Given the description of an element on the screen output the (x, y) to click on. 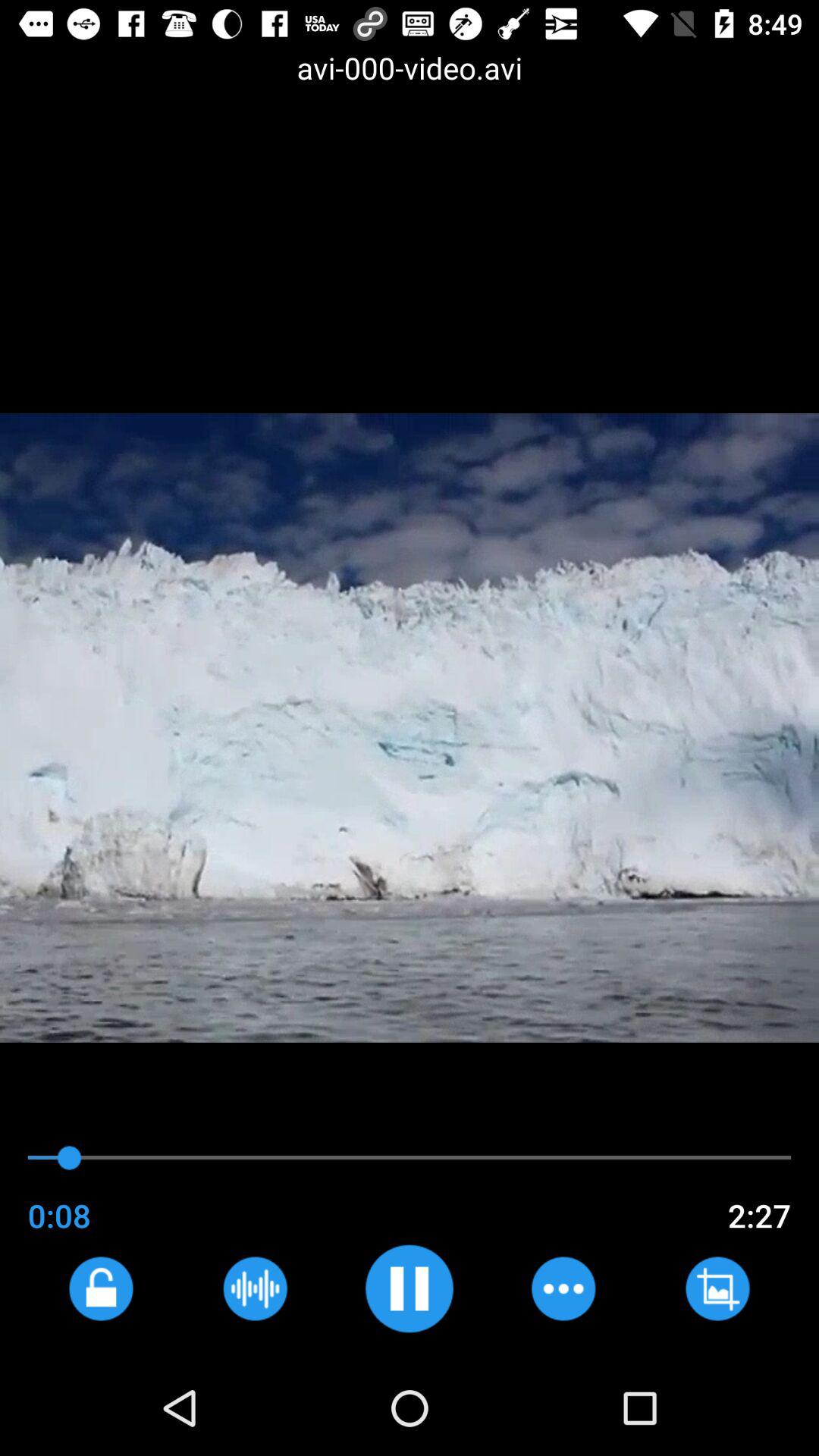
skip ahead (563, 1288)
